Given the description of an element on the screen output the (x, y) to click on. 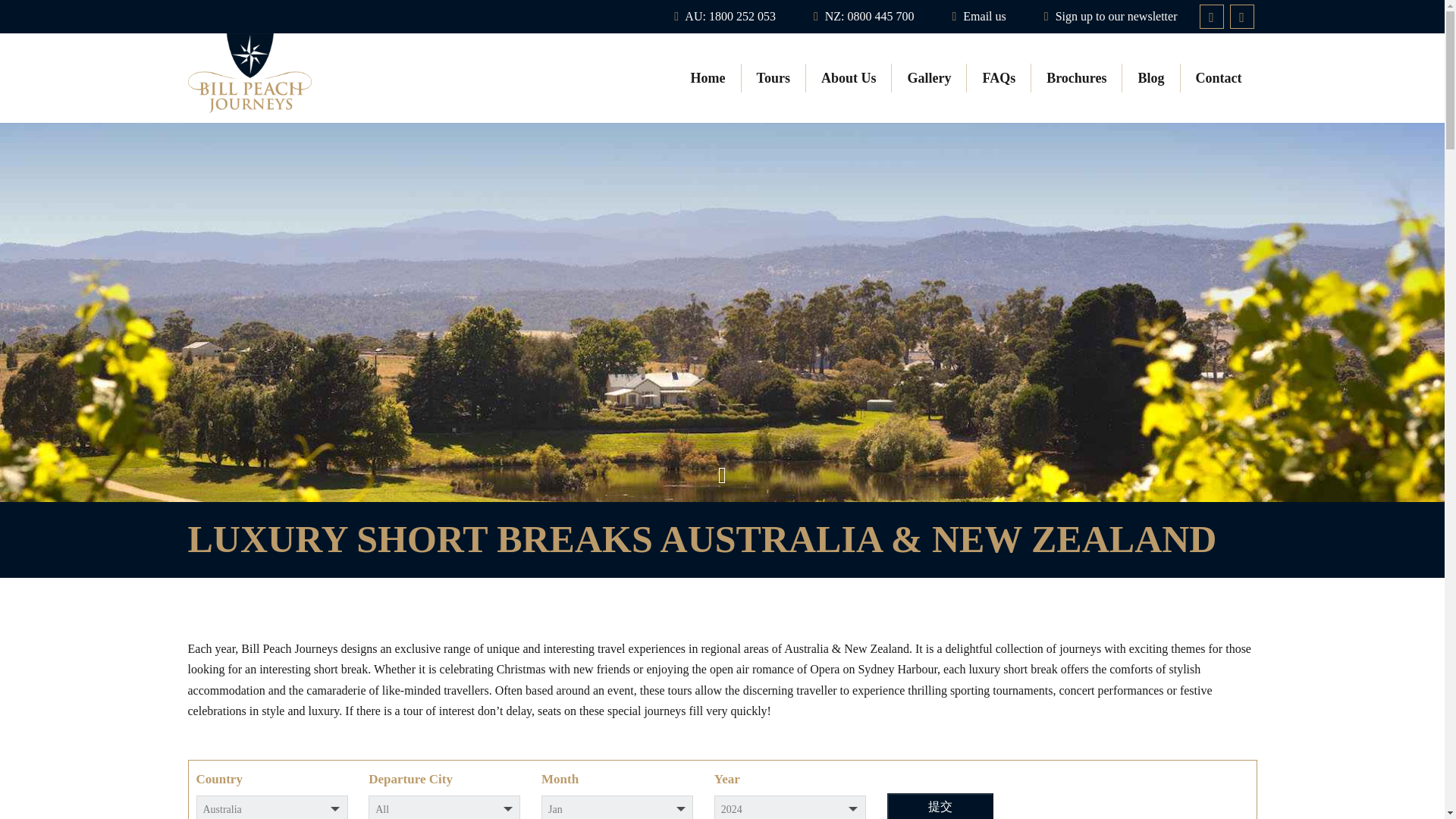
FAQs (998, 77)
AU: 1800 252 053 (725, 16)
Brochures (1076, 77)
Email us (979, 16)
Blog (1150, 77)
Tours (773, 77)
About Us (849, 77)
Home (708, 77)
NZ: 0800 445 700 (863, 16)
Sign up to our newsletter (1110, 16)
Gallery (928, 77)
